Given the description of an element on the screen output the (x, y) to click on. 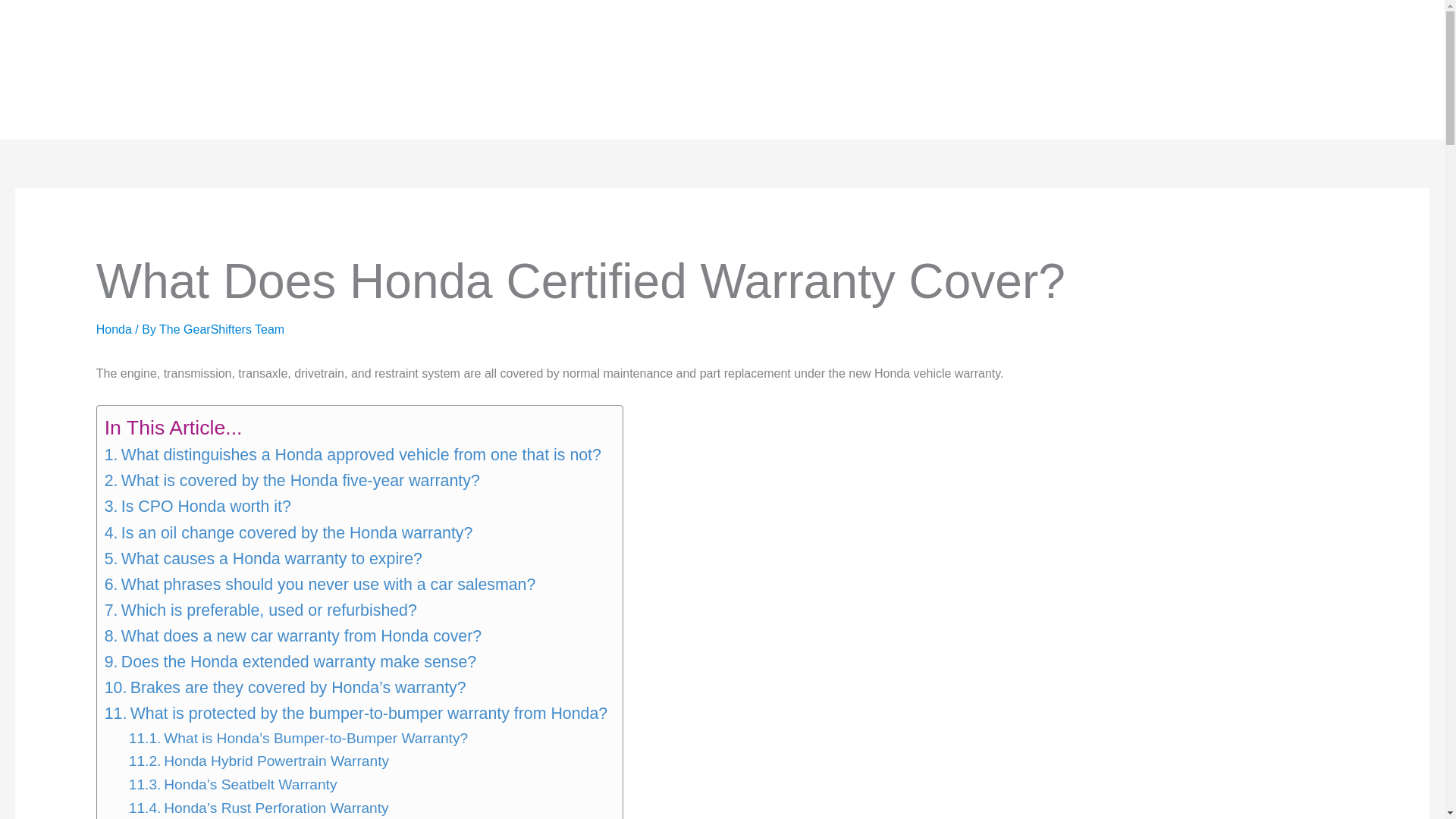
Honda (114, 328)
Which is preferable, used or refurbished? (260, 610)
Is an oil change covered by the Honda warranty? (288, 533)
What phrases should you never use with a car salesman? (319, 584)
What does a new car warranty from Honda cover? (292, 636)
What is covered by the Honda five-year warranty? (292, 480)
What is covered by the Honda five-year warranty? (292, 480)
What causes a Honda warranty to expire? (263, 558)
Is an oil change covered by the Honda warranty? (288, 533)
Which is preferable, used or refurbished? (260, 610)
Honda Hybrid Powertrain Warranty (258, 761)
What does a new car warranty from Honda cover? (292, 636)
Is CPO Honda worth it? (197, 506)
ALL (366, 69)
Does the Honda extended warranty make sense? (290, 661)
